Given the description of an element on the screen output the (x, y) to click on. 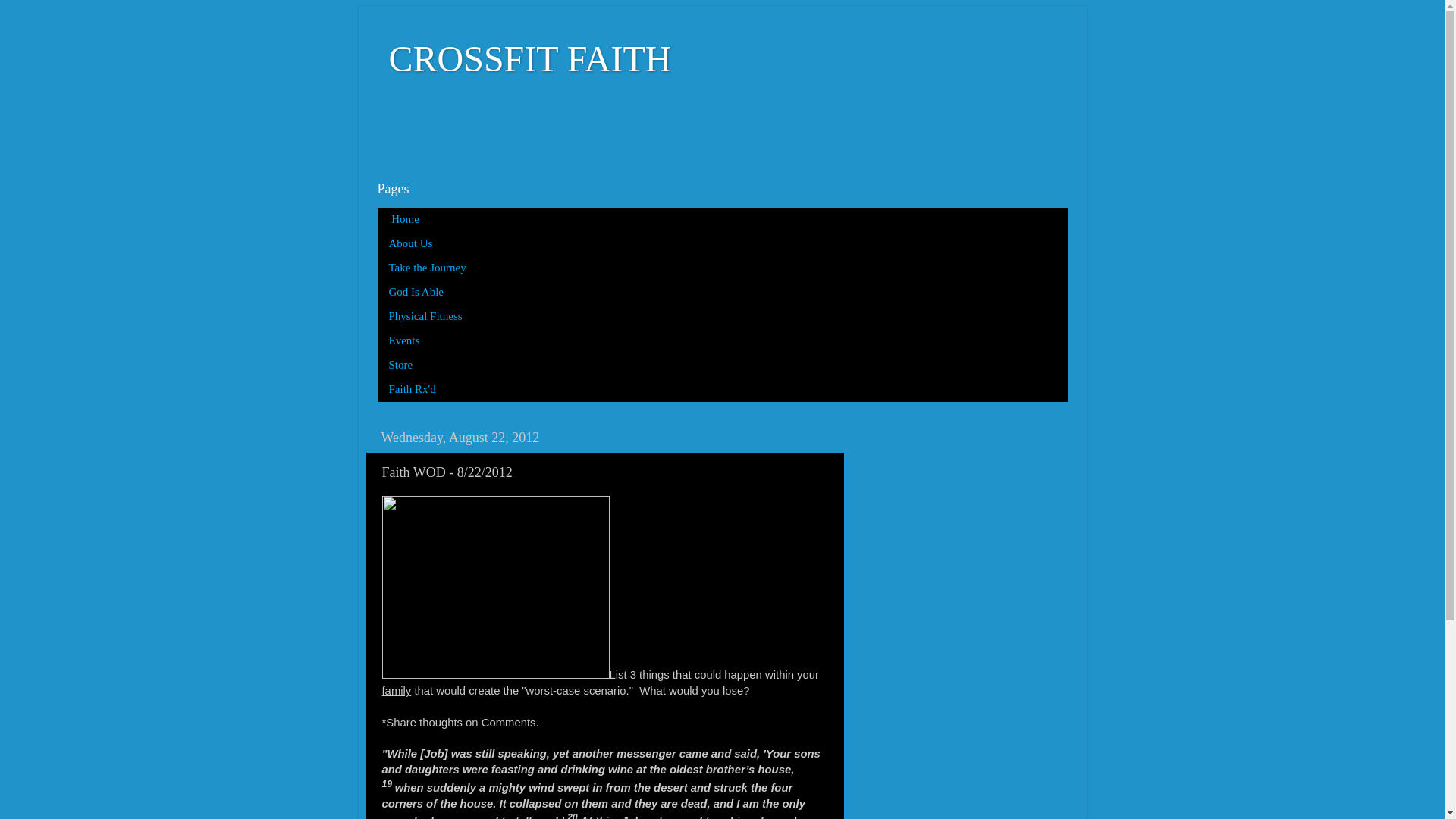
Faith Rx'd (412, 389)
Store (401, 364)
Events (404, 340)
About Us (411, 243)
CROSSFIT FAITH (529, 58)
Physical Fitness (425, 316)
Home (403, 219)
Take the Journey (428, 268)
God Is Able (417, 292)
family2 (495, 587)
